Given the description of an element on the screen output the (x, y) to click on. 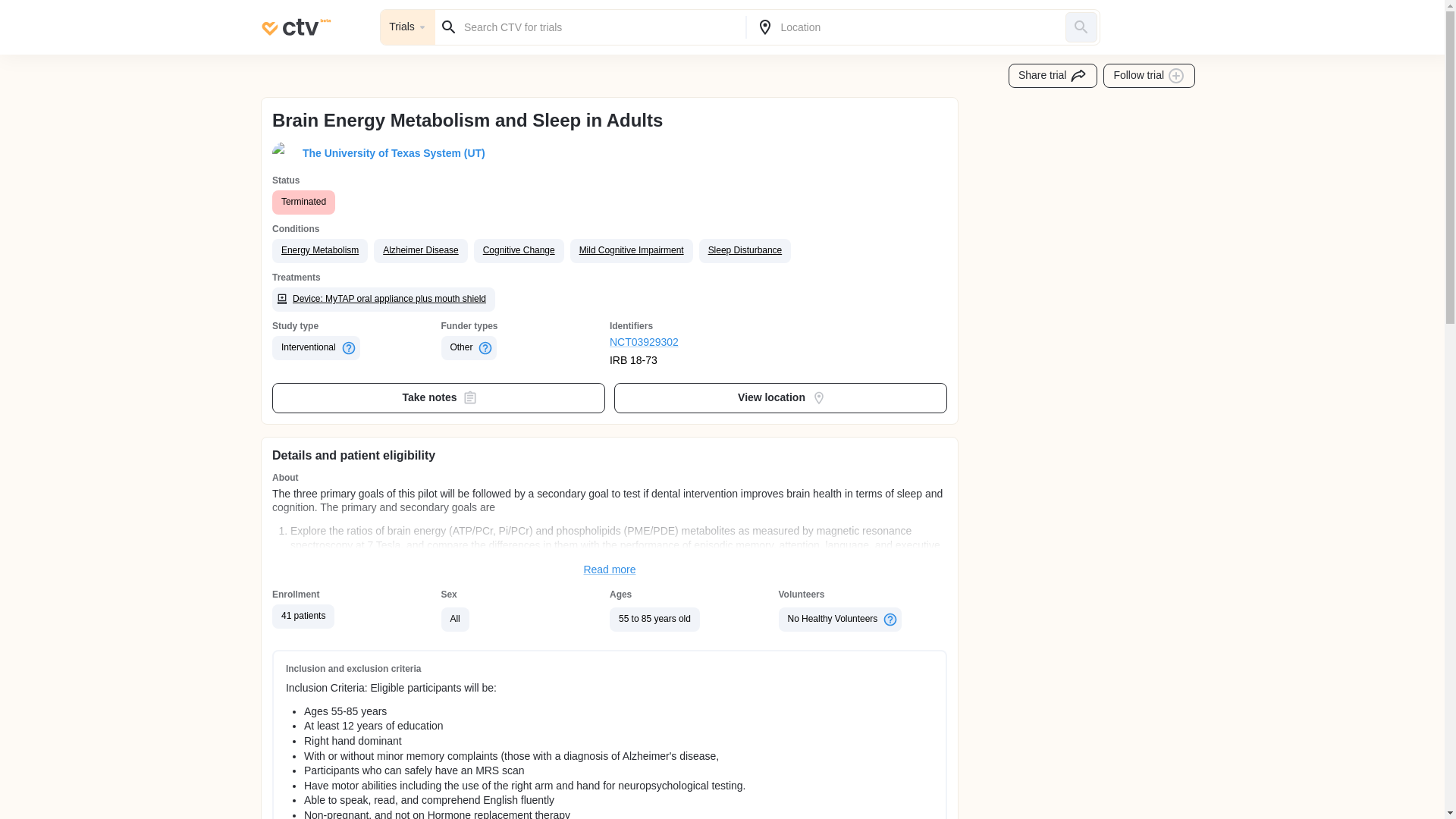
View location (780, 398)
Trials (407, 27)
Follow trial (1149, 75)
Read more (609, 570)
NCT03929302 (694, 342)
Take notes (438, 398)
Share trial (1053, 75)
